Given the description of an element on the screen output the (x, y) to click on. 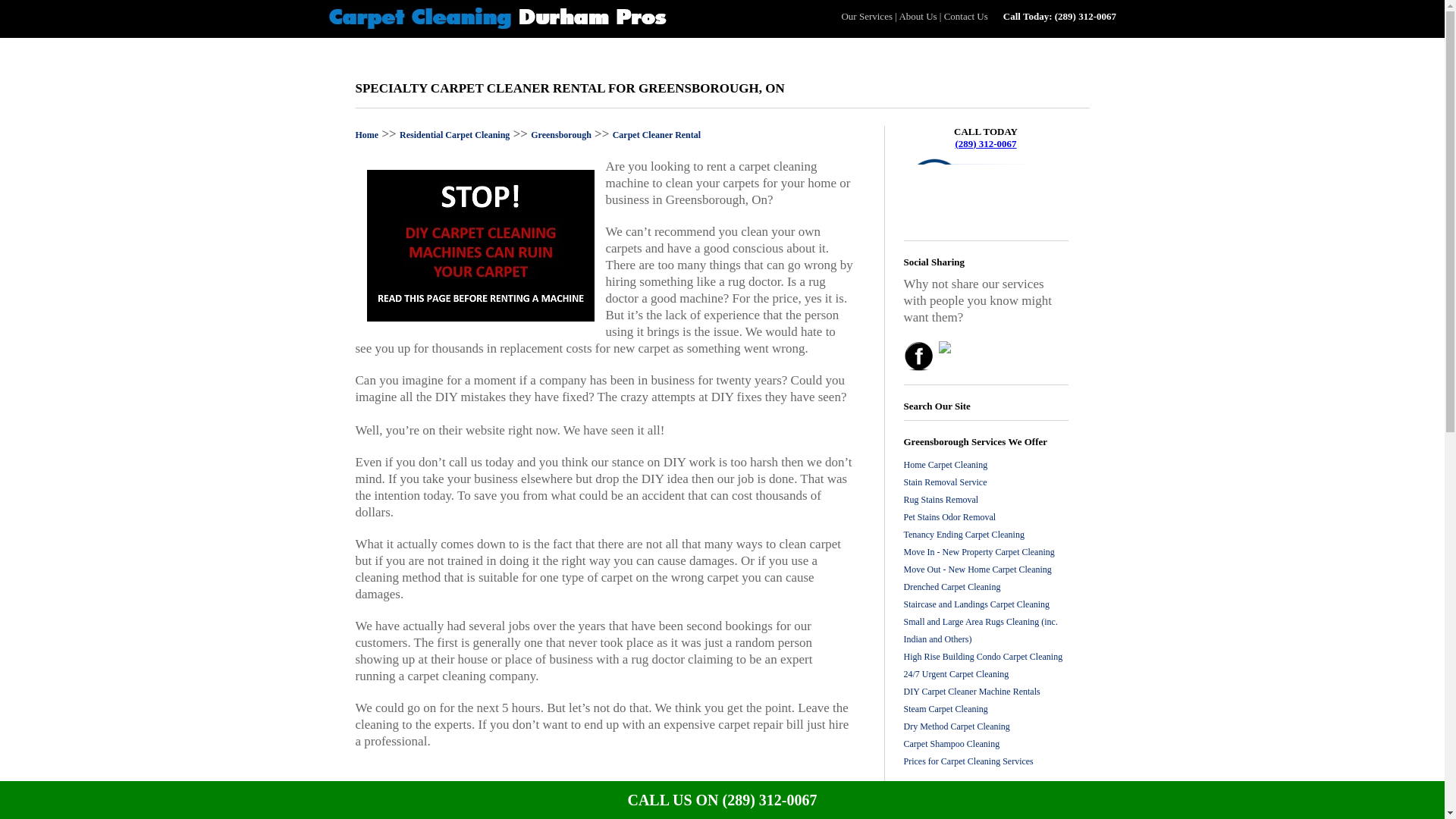
Next (998, 793)
Rug Stains Removal (941, 499)
Home Carpet Cleaning (946, 464)
Home (366, 134)
Move Out - New Home Carpet Cleaning (977, 569)
High Rise Building Condo Carpet Cleaning (983, 656)
Carpet Shampoo Cleaning (952, 743)
About Us (917, 16)
Contact Us (965, 16)
DIY Carpet Cleaner Machine Rentals (972, 691)
